Given the description of an element on the screen output the (x, y) to click on. 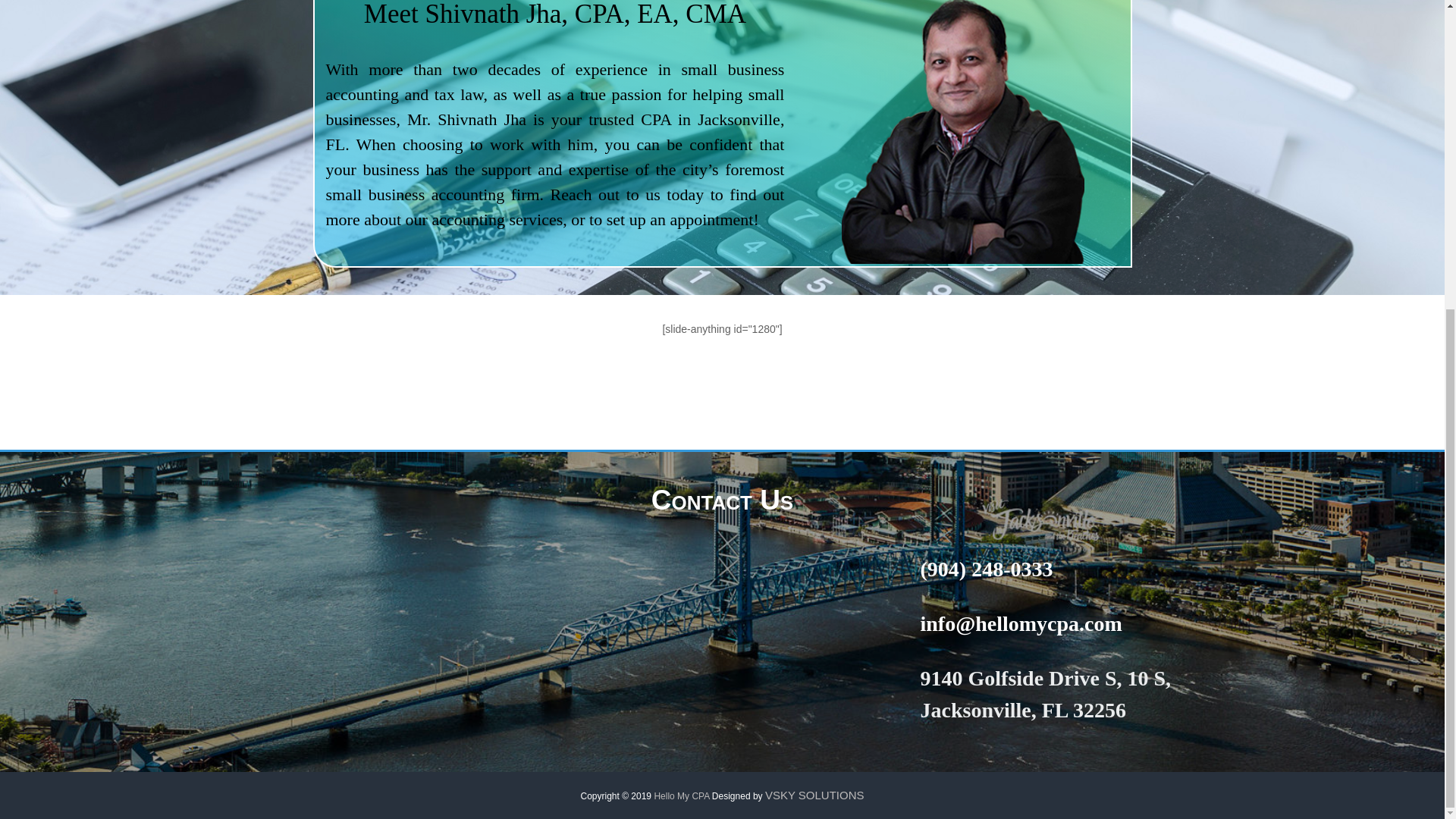
VSKY SOLUTIONS (814, 794)
Hello My CPA (681, 796)
